Given the description of an element on the screen output the (x, y) to click on. 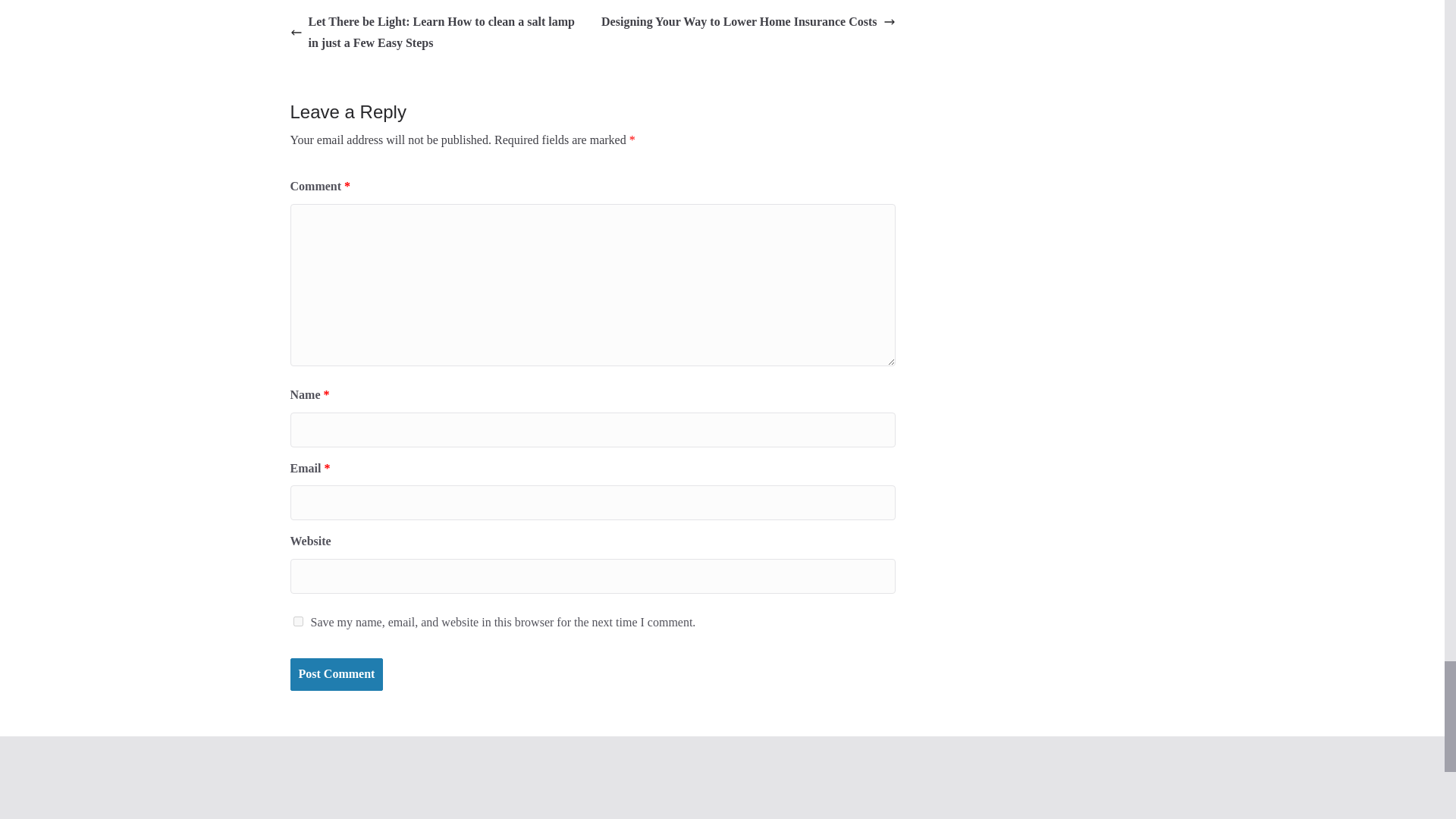
yes (297, 621)
Post Comment (335, 674)
